Given the description of an element on the screen output the (x, y) to click on. 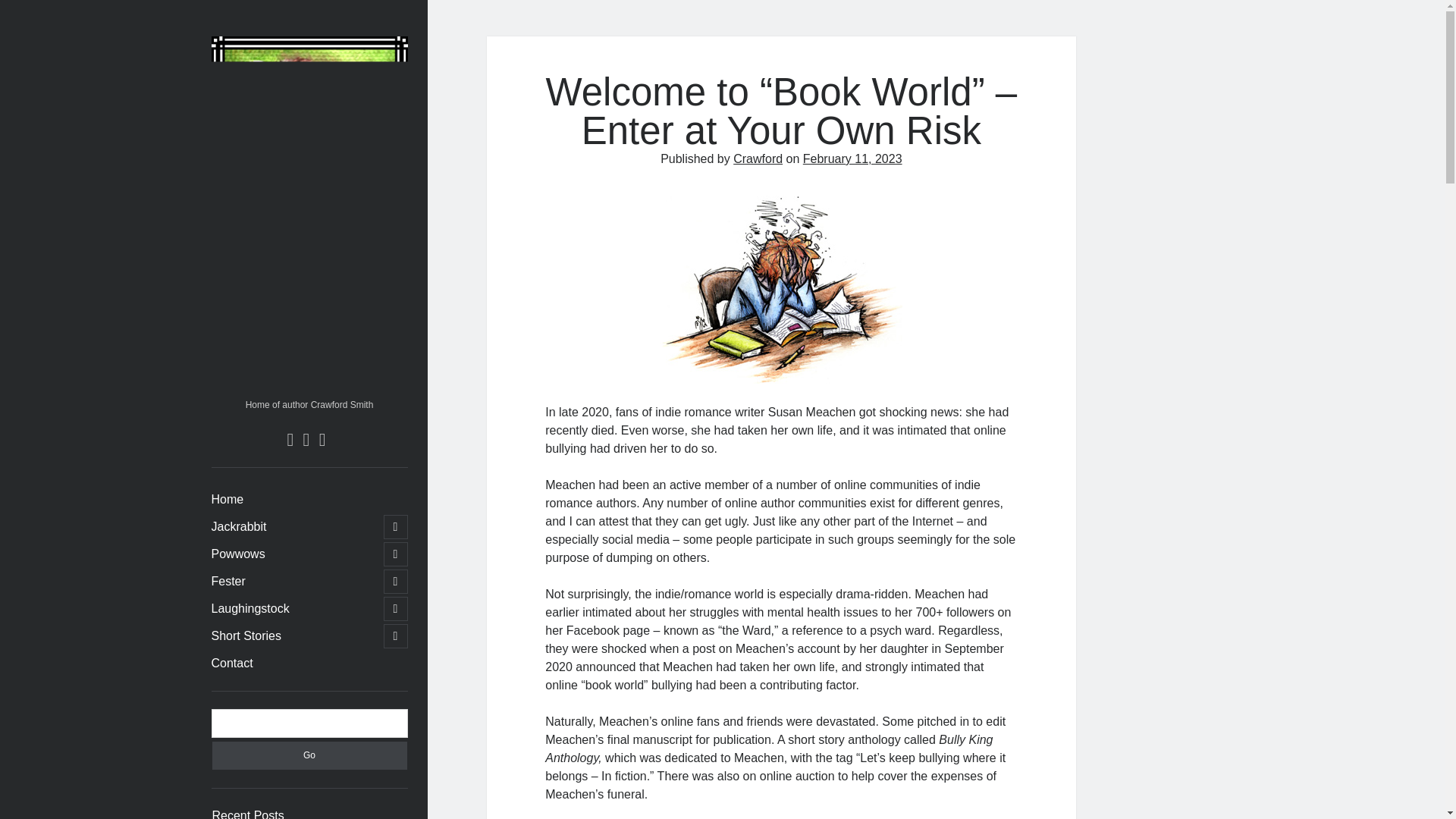
open child menu (395, 554)
open child menu (395, 636)
Short Stories (246, 636)
open child menu (395, 581)
Laughingstock (249, 608)
Fester (227, 581)
Home (227, 499)
email (322, 439)
Go (309, 755)
Go (309, 755)
facebook (306, 439)
Jackrabbit (238, 526)
Sweet Weasel Words (309, 386)
Powwows (237, 554)
Search for: (309, 723)
